Given the description of an element on the screen output the (x, y) to click on. 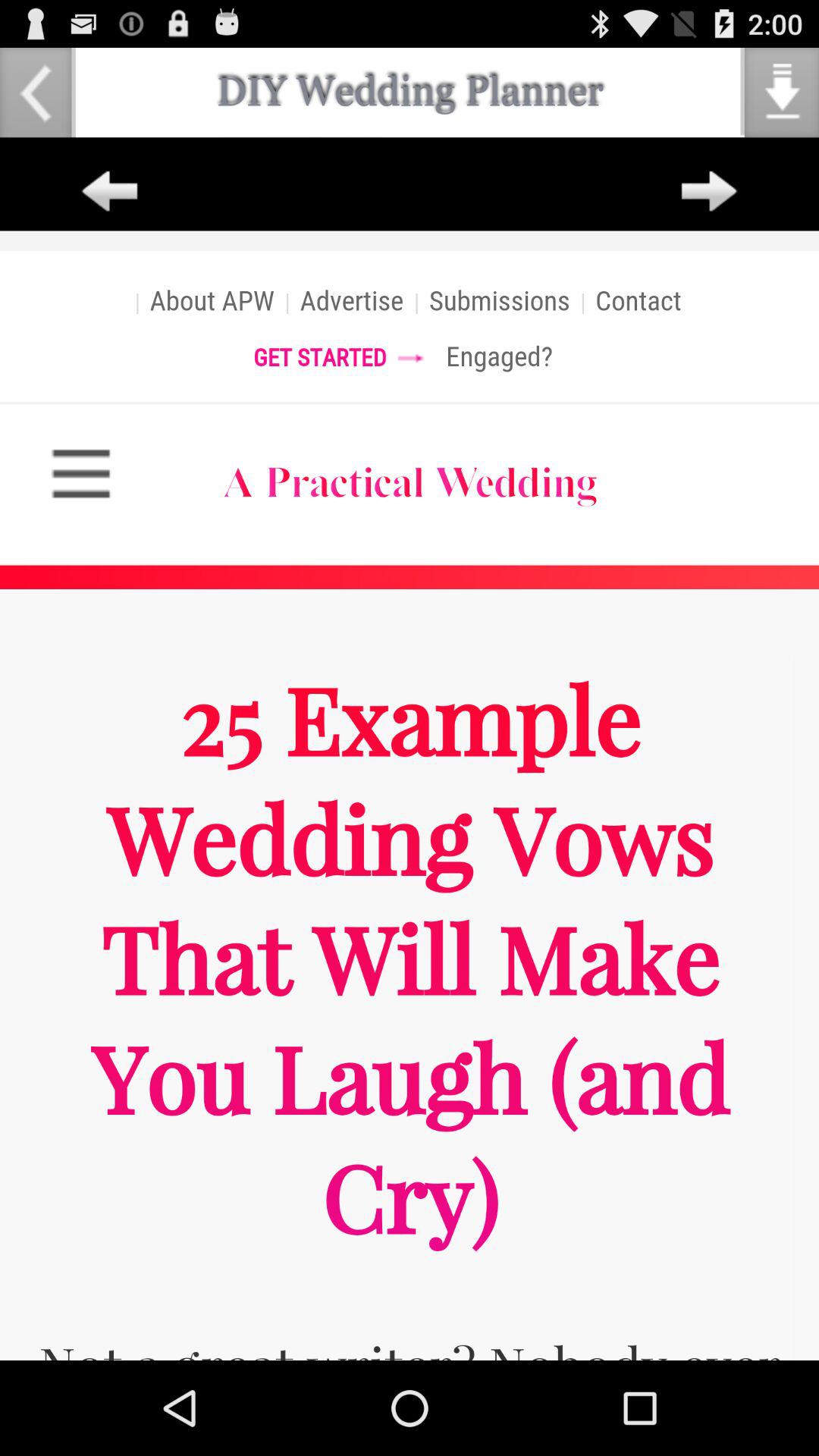
go next (709, 192)
